Given the description of an element on the screen output the (x, y) to click on. 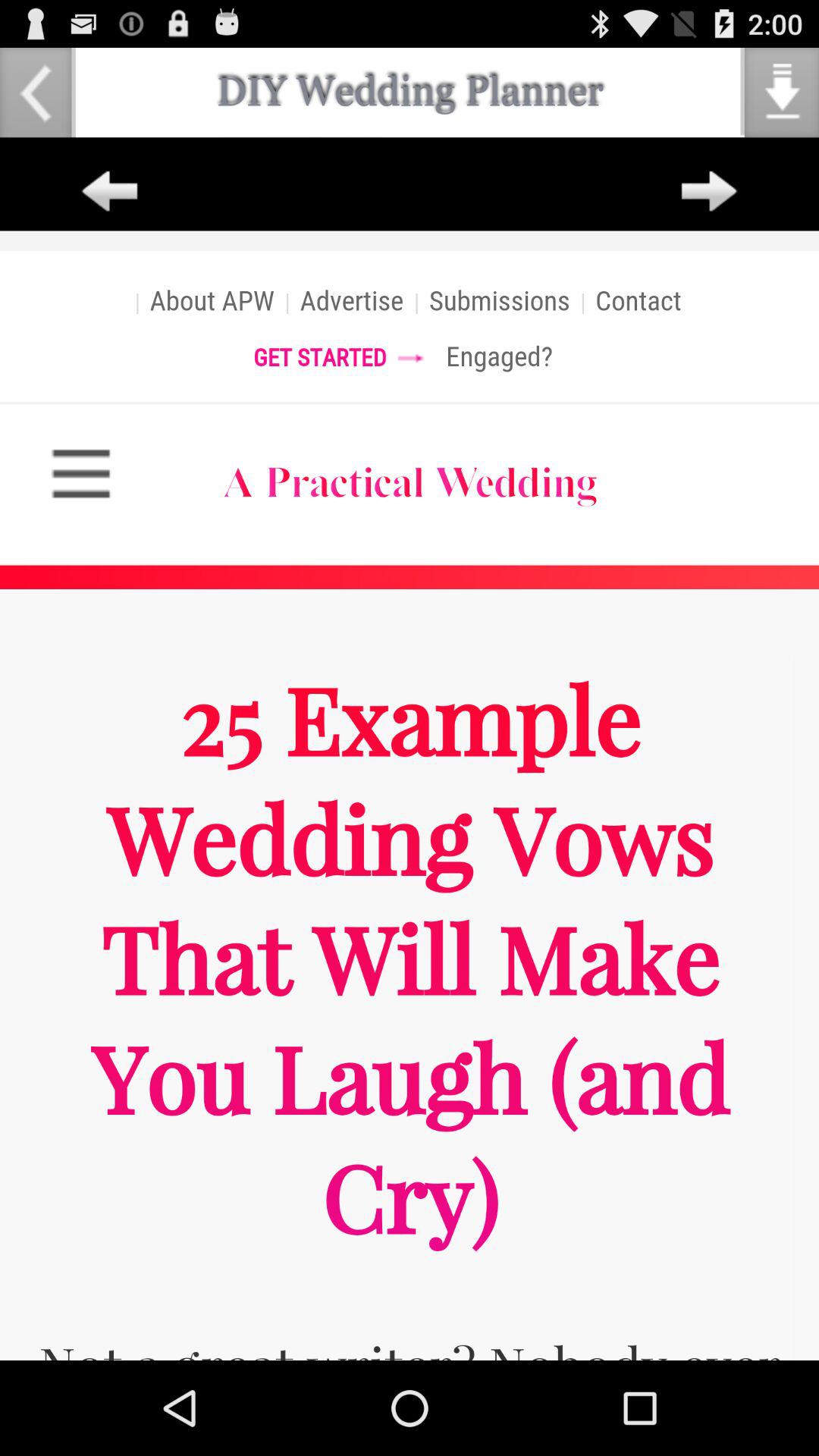
go next (709, 192)
